Given the description of an element on the screen output the (x, y) to click on. 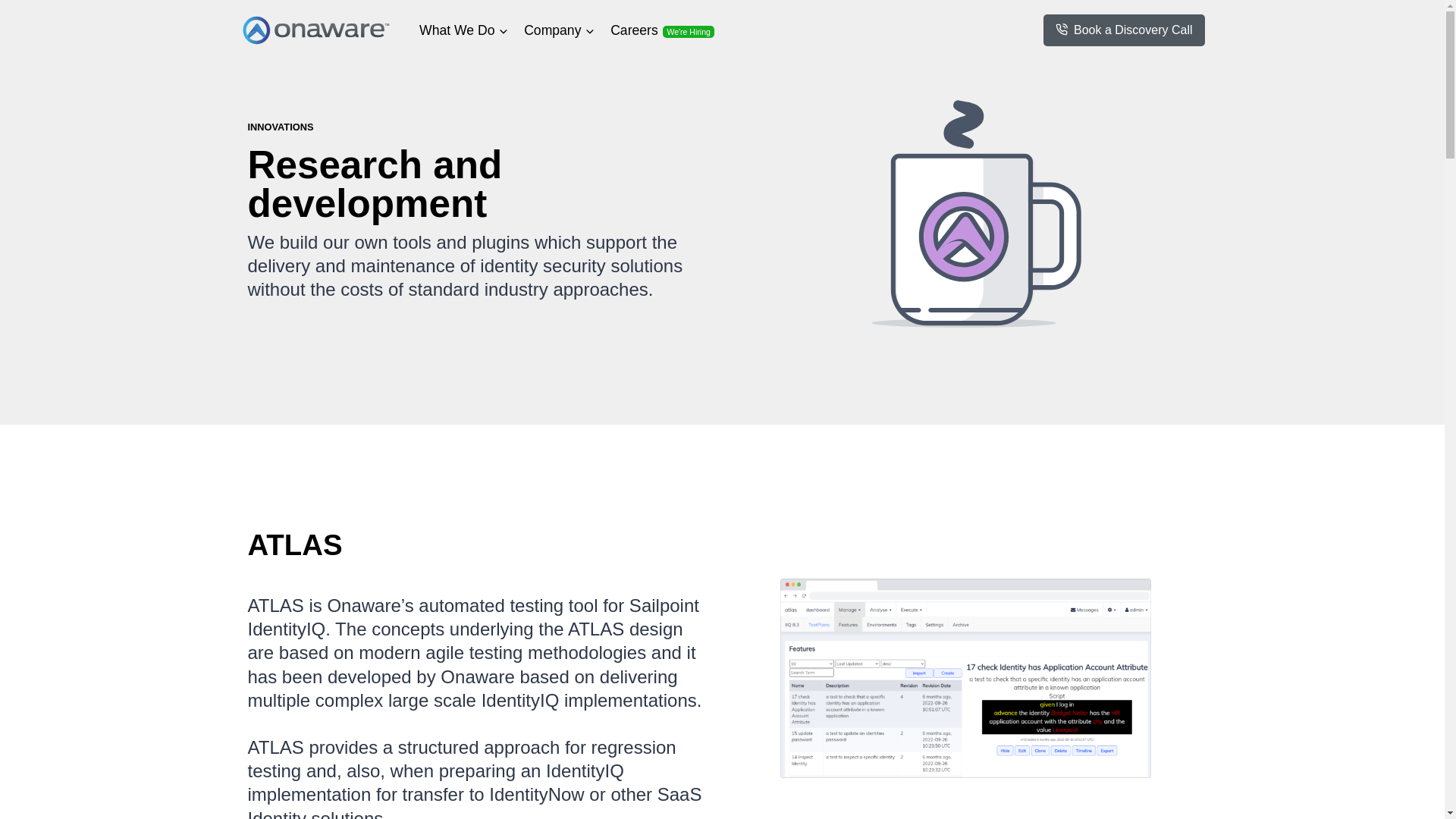
CareersWe're Hiring (662, 30)
What We Do (462, 30)
Company (559, 30)
Book a Discovery Call (1124, 29)
